Given the description of an element on the screen output the (x, y) to click on. 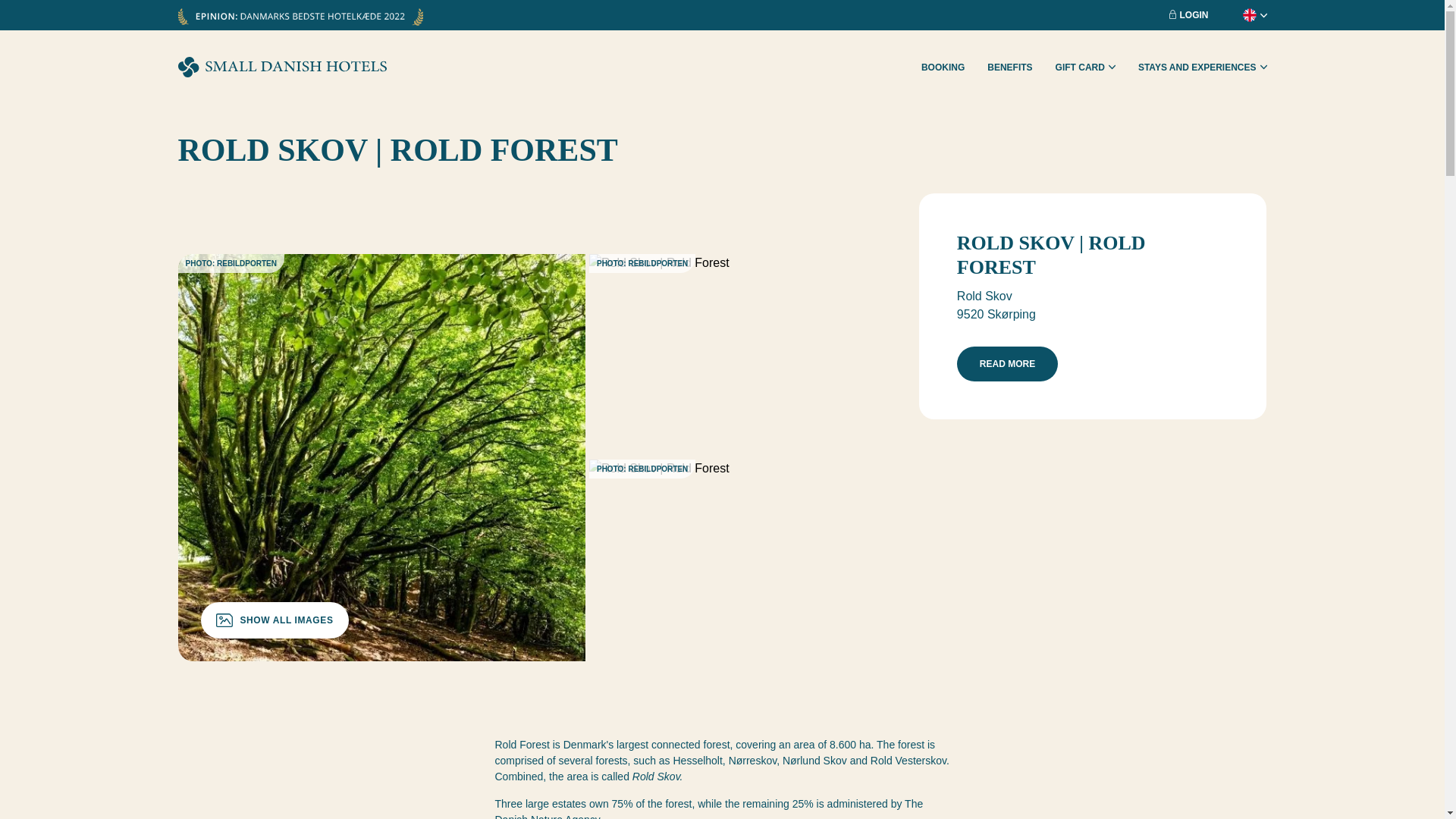
BOOKING (942, 67)
Current language: English (1243, 15)
DANISH (1223, 29)
BENEFITS (1009, 67)
STAYS AND EXPERIENCES (1202, 67)
Small Danish Hotels (281, 66)
LOGIN (1188, 15)
GIFT CARD (1084, 67)
